Given the description of an element on the screen output the (x, y) to click on. 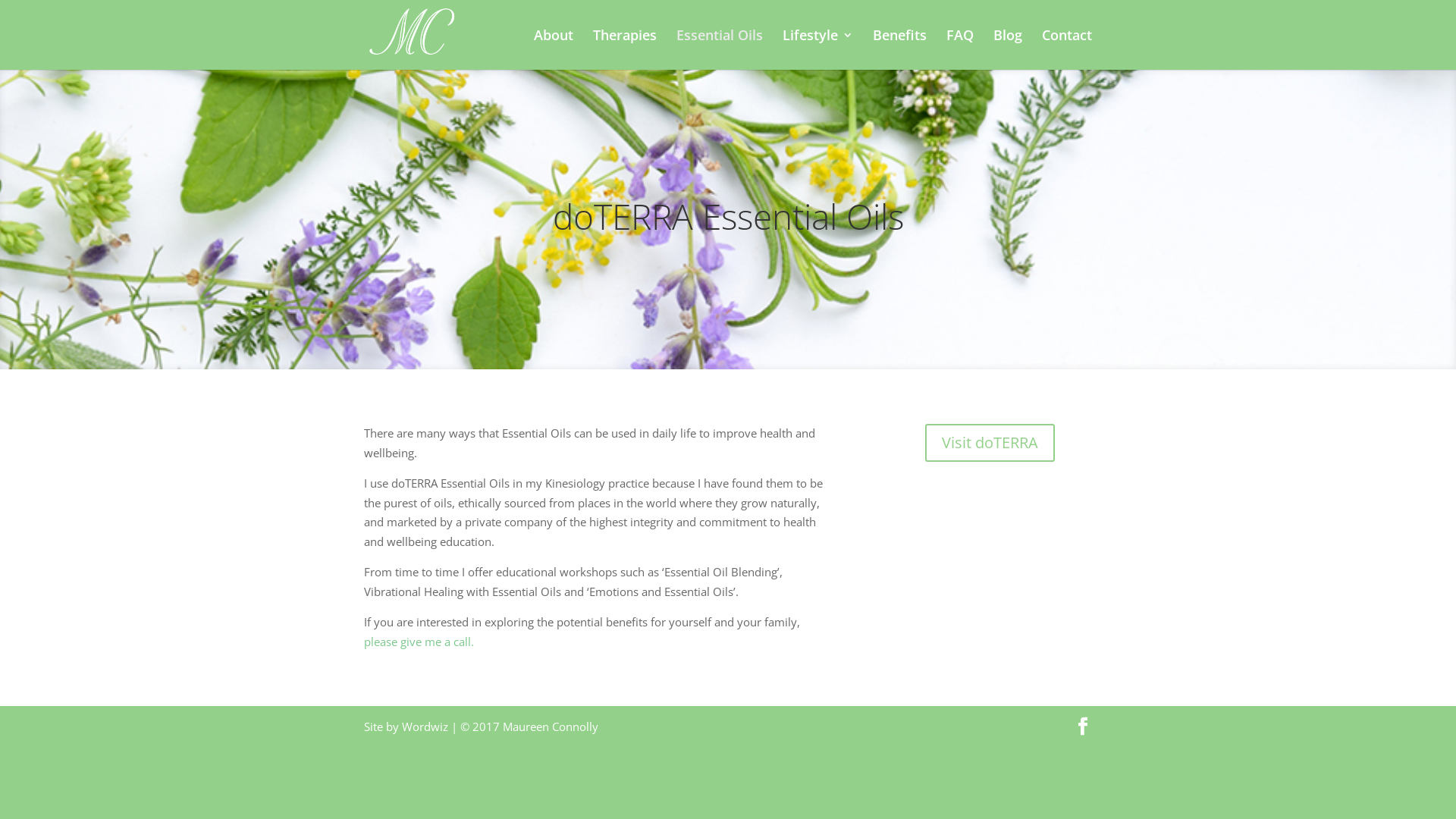
Therapies Element type: text (624, 49)
FAQ Element type: text (959, 49)
Visit doTERRA Element type: text (989, 442)
Contact Element type: text (1066, 49)
Lifestyle Element type: text (817, 49)
please give me a call. Element type: text (418, 641)
About Element type: text (553, 49)
Blog Element type: text (1007, 49)
Benefits Element type: text (899, 49)
Essential Oils Element type: text (719, 49)
